Given the description of an element on the screen output the (x, y) to click on. 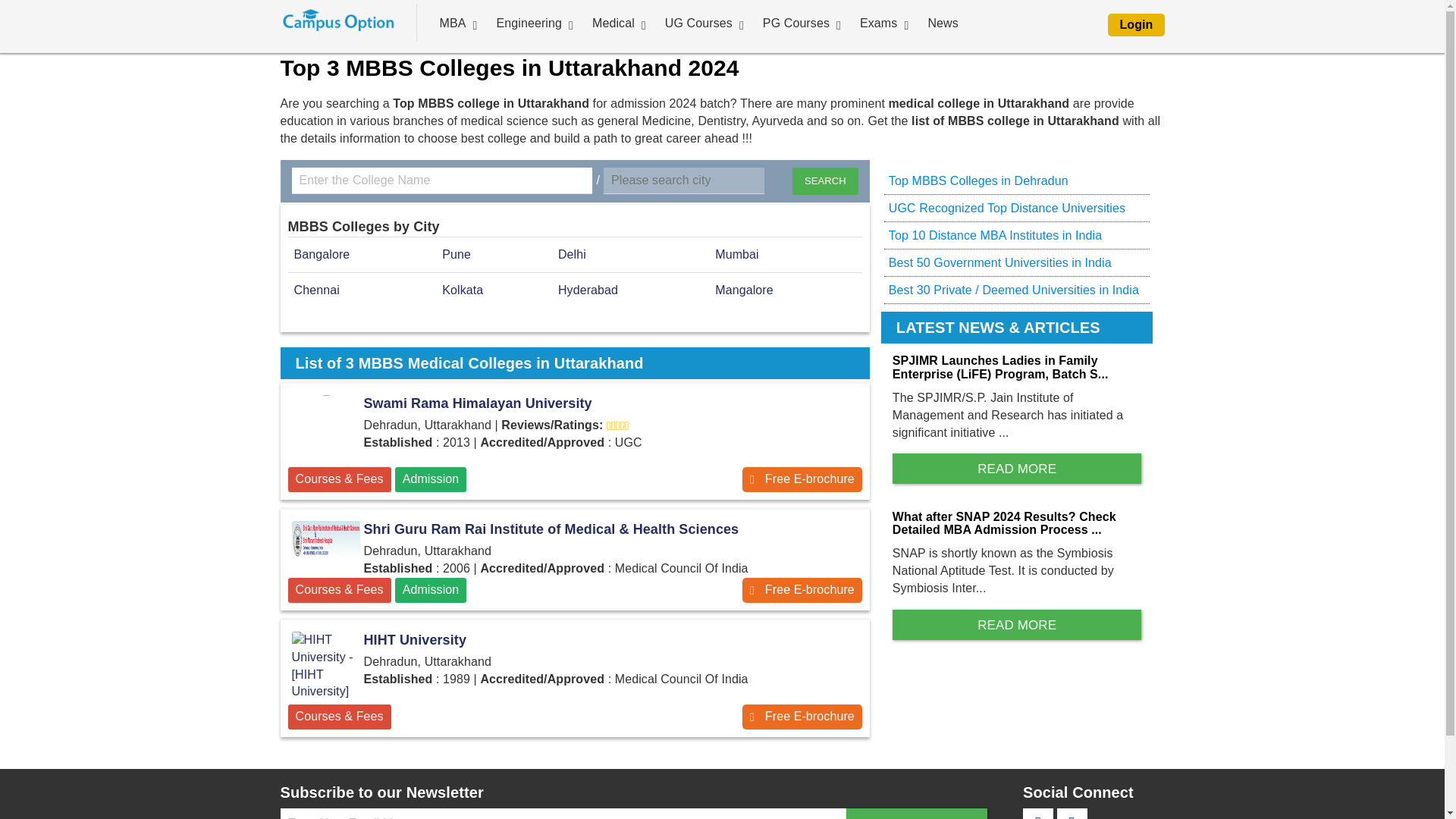
mbbs Medical Colleges in Pune (456, 254)
UG Courses (698, 23)
MBA (453, 23)
News (942, 23)
HIHT University (574, 639)
Swami Rama Himalayan University (574, 403)
sign-in (1135, 24)
Subscribe (916, 813)
Swami Rama Himalayan University (801, 479)
mbbs Medical Colleges in Chennai (316, 289)
Swami Rama Himalayan University (326, 428)
HIHT University (326, 666)
mbbs Medical Colleges in Kolkata (462, 289)
Search (825, 180)
Engineering (528, 23)
